Given the description of an element on the screen output the (x, y) to click on. 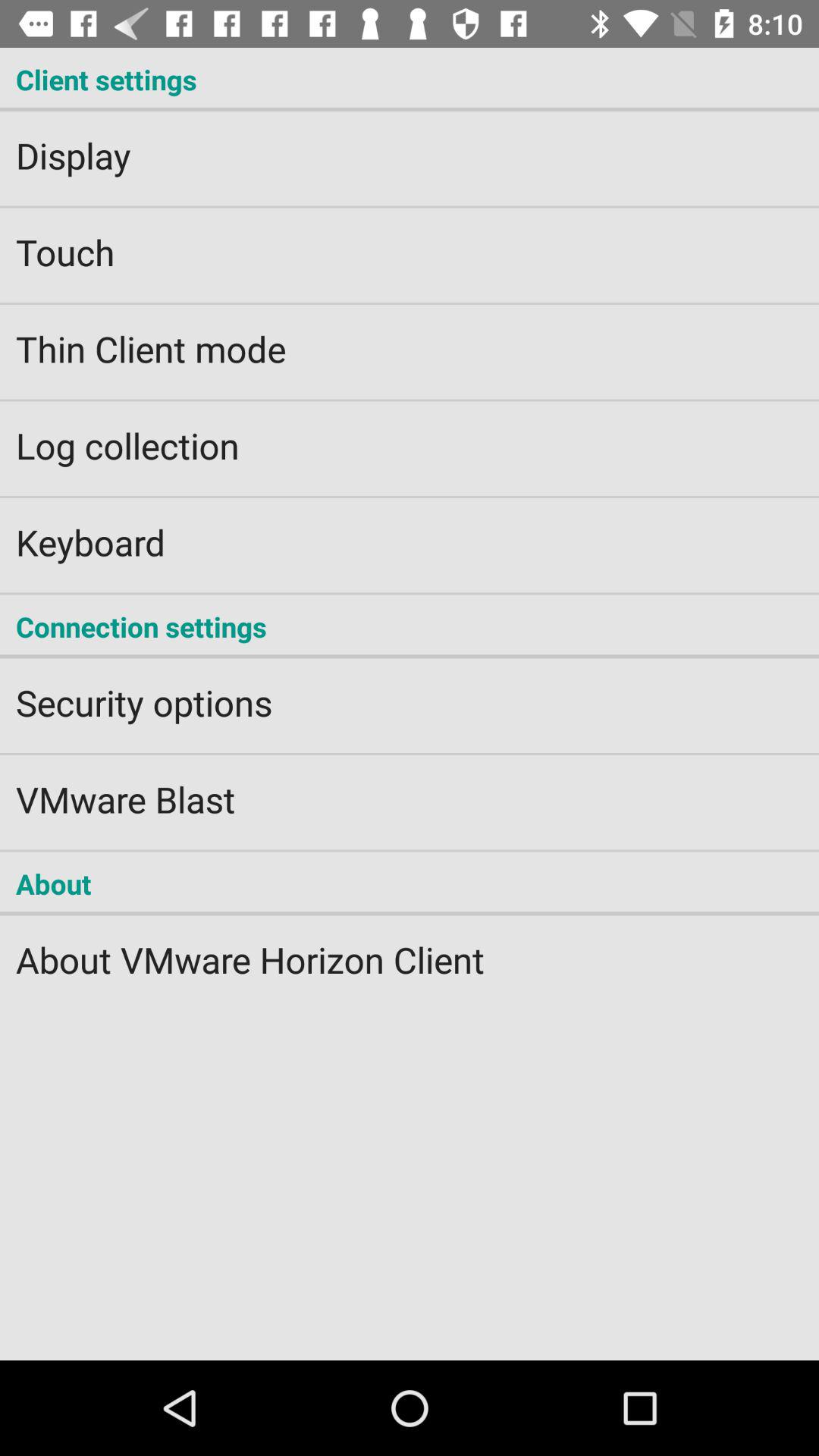
flip to the security options icon (409, 692)
